Given the description of an element on the screen output the (x, y) to click on. 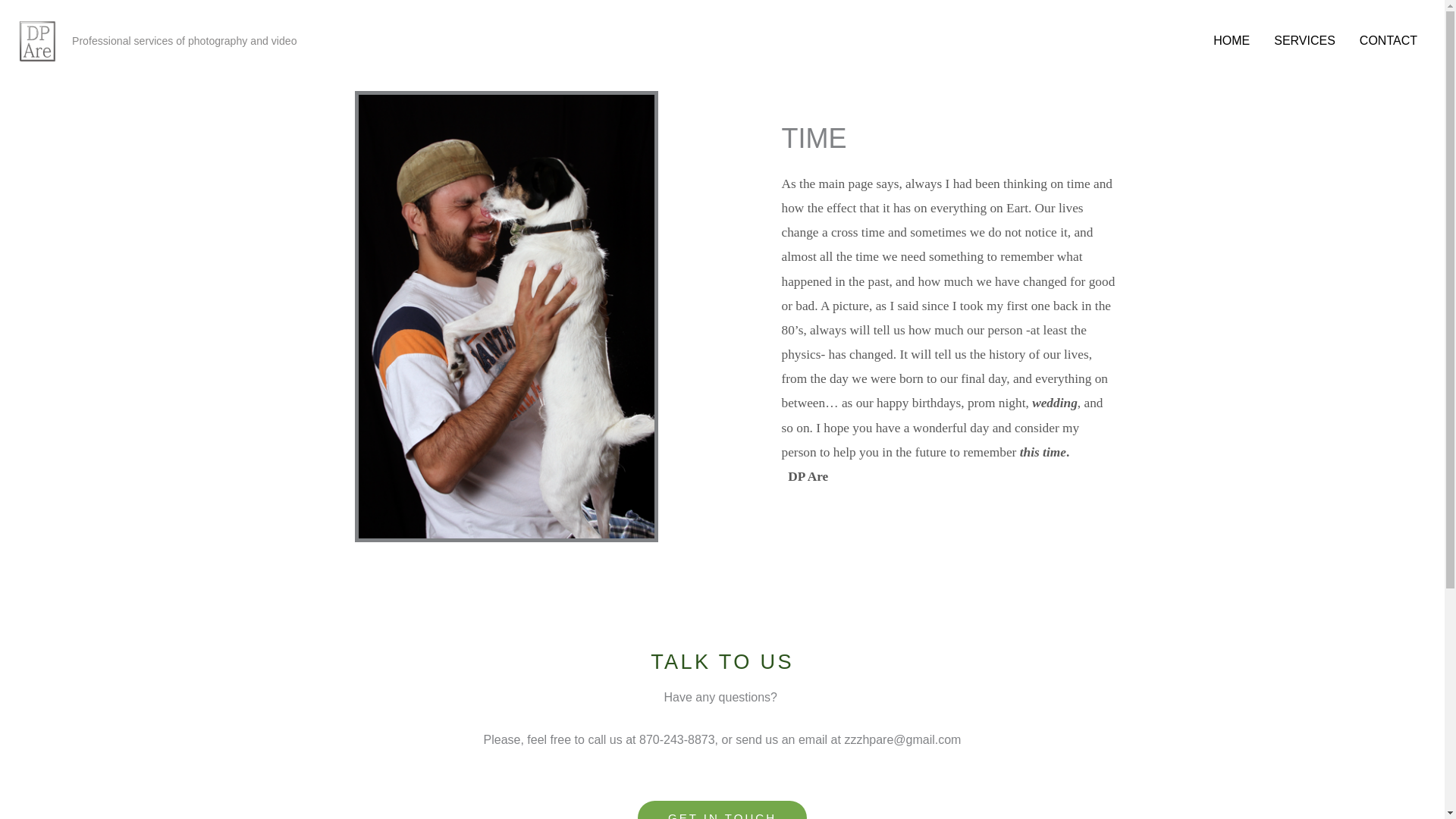
GET IN TOUCH (721, 809)
CONTACT (1388, 40)
HOME (1231, 40)
SERVICES (1305, 40)
